Given the description of an element on the screen output the (x, y) to click on. 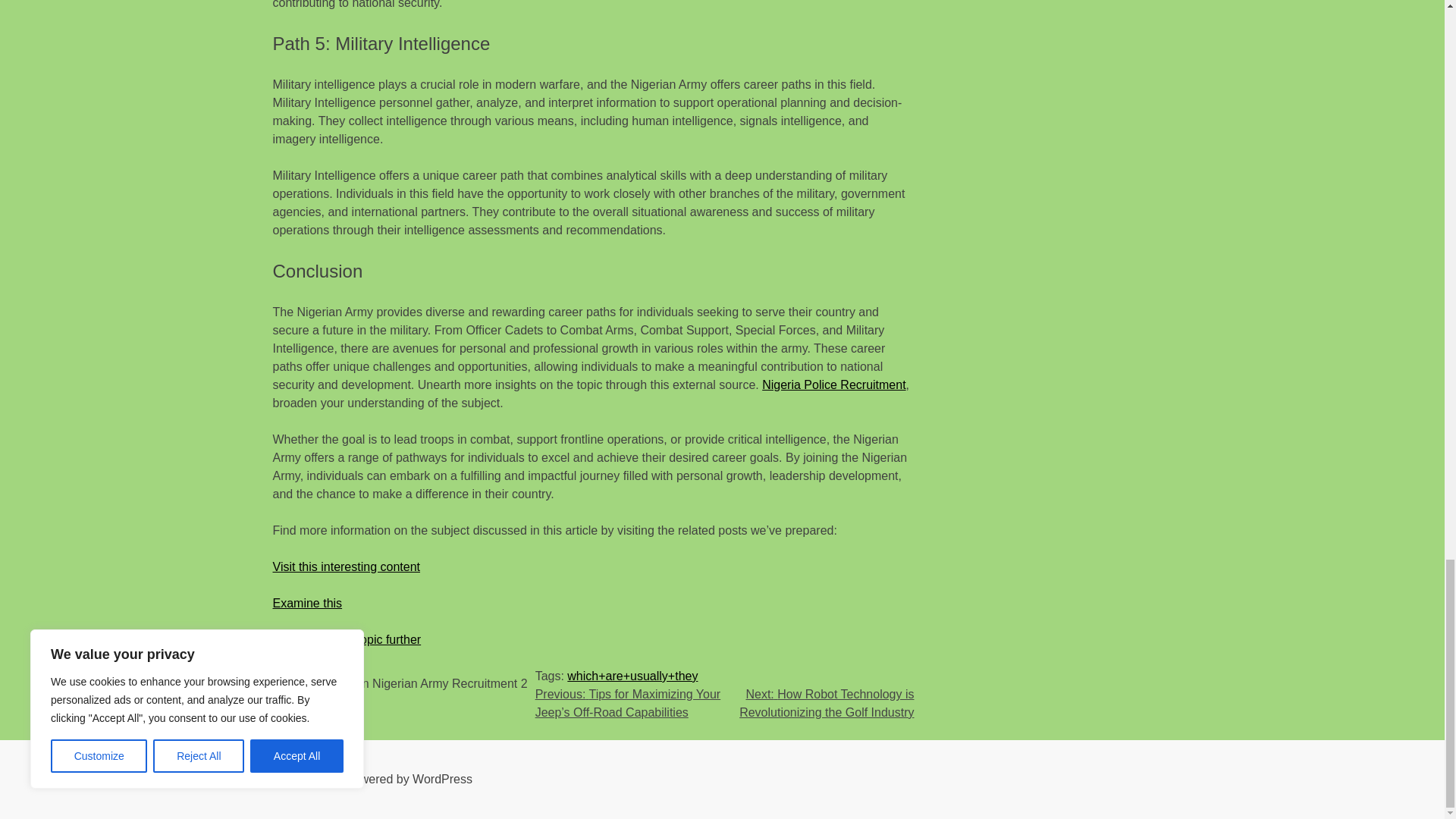
Nigeria Police Recruitment (833, 384)
Examine this (307, 603)
Visit this interesting content (346, 566)
Investigate this topic further (347, 639)
